Given the description of an element on the screen output the (x, y) to click on. 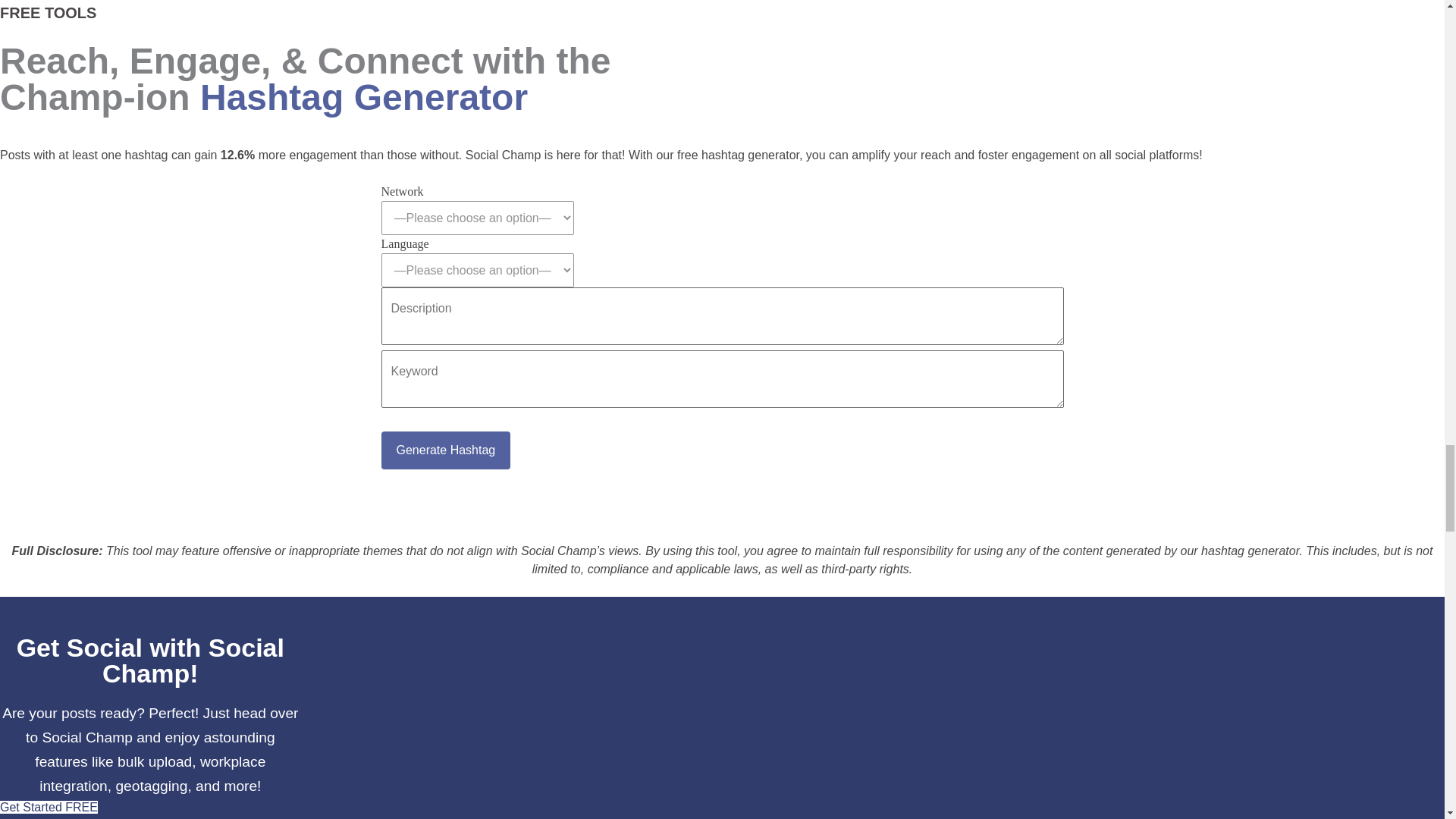
Generate Hashtag (445, 450)
